Given the description of an element on the screen output the (x, y) to click on. 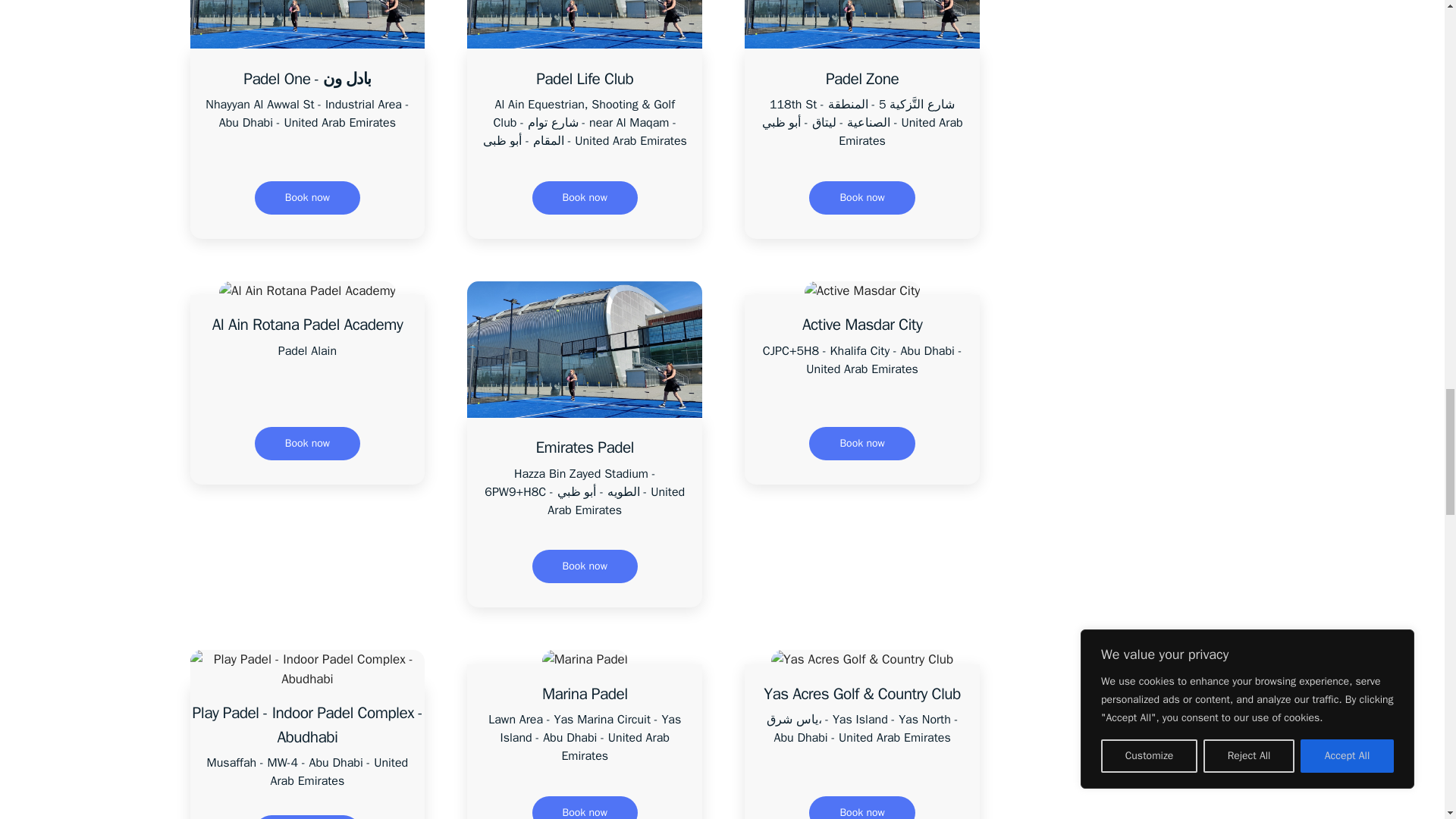
Book now (306, 443)
Book now (306, 197)
Book now (861, 197)
Book now (584, 197)
Book now (584, 566)
